Given the description of an element on the screen output the (x, y) to click on. 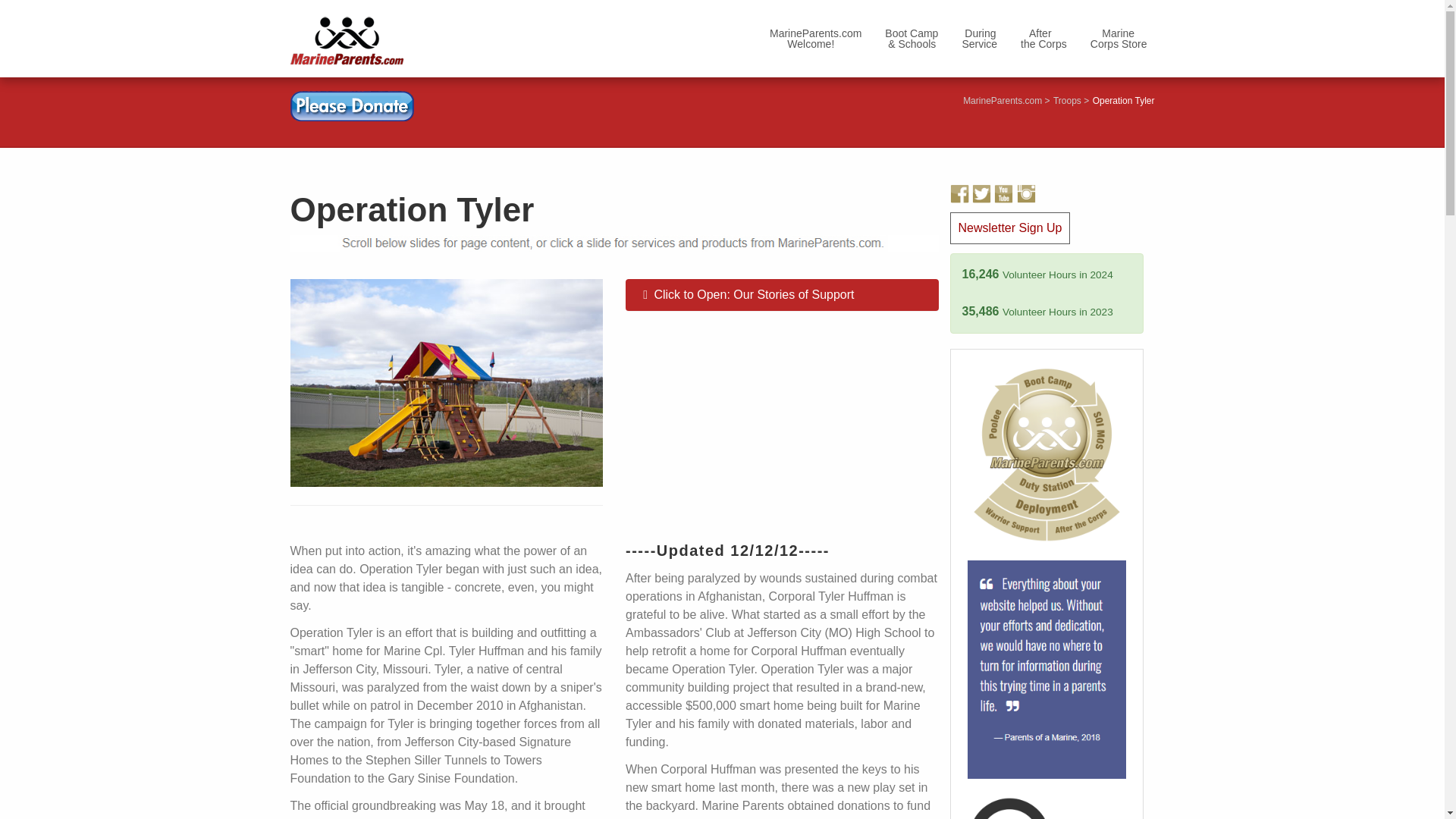
Click to search our websites (1046, 807)
Stages of Your Marine's Career (815, 38)
